Given the description of an element on the screen output the (x, y) to click on. 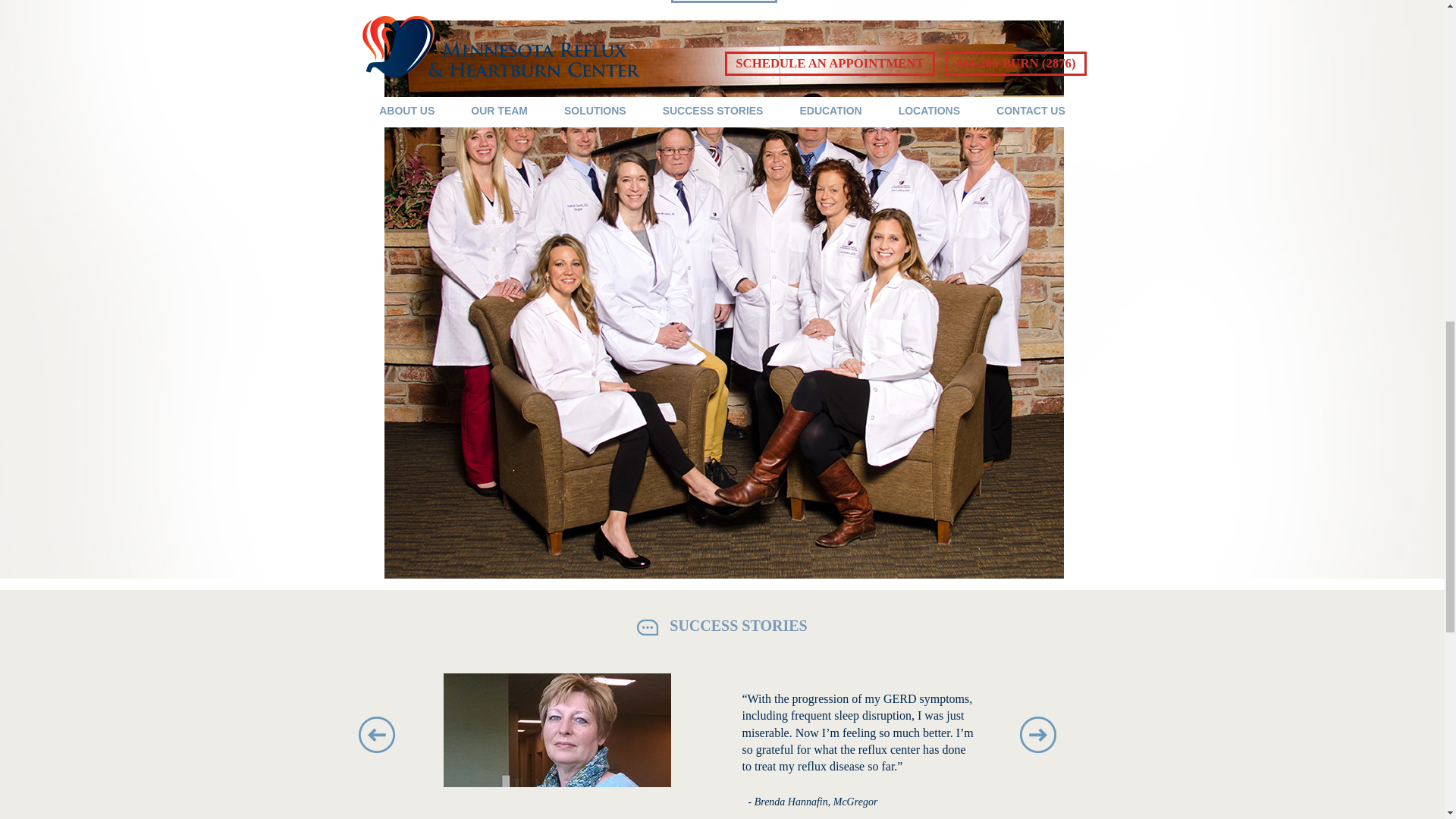
READ BIOS (724, 1)
